Given the description of an element on the screen output the (x, y) to click on. 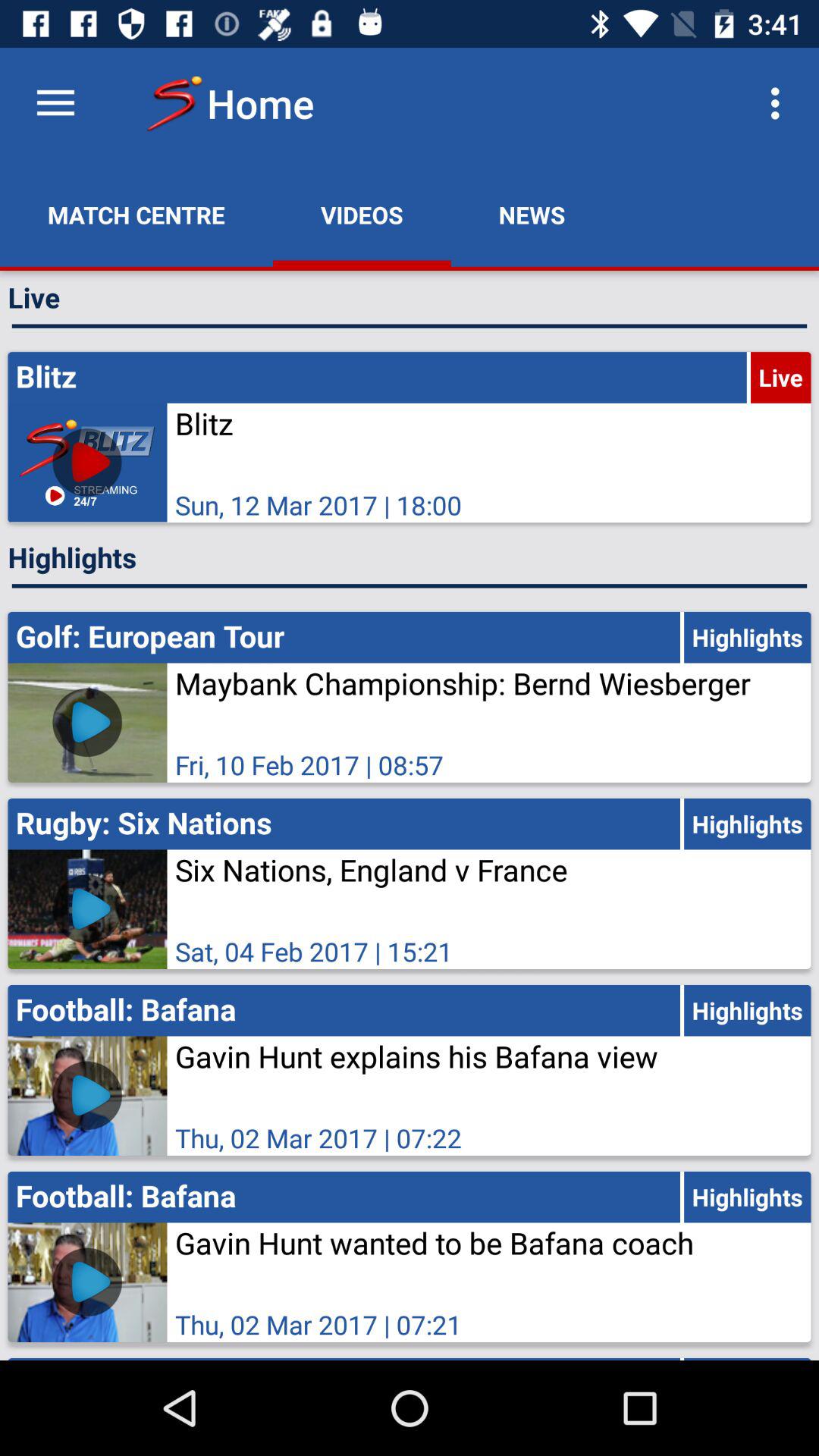
show more options (55, 103)
